Given the description of an element on the screen output the (x, y) to click on. 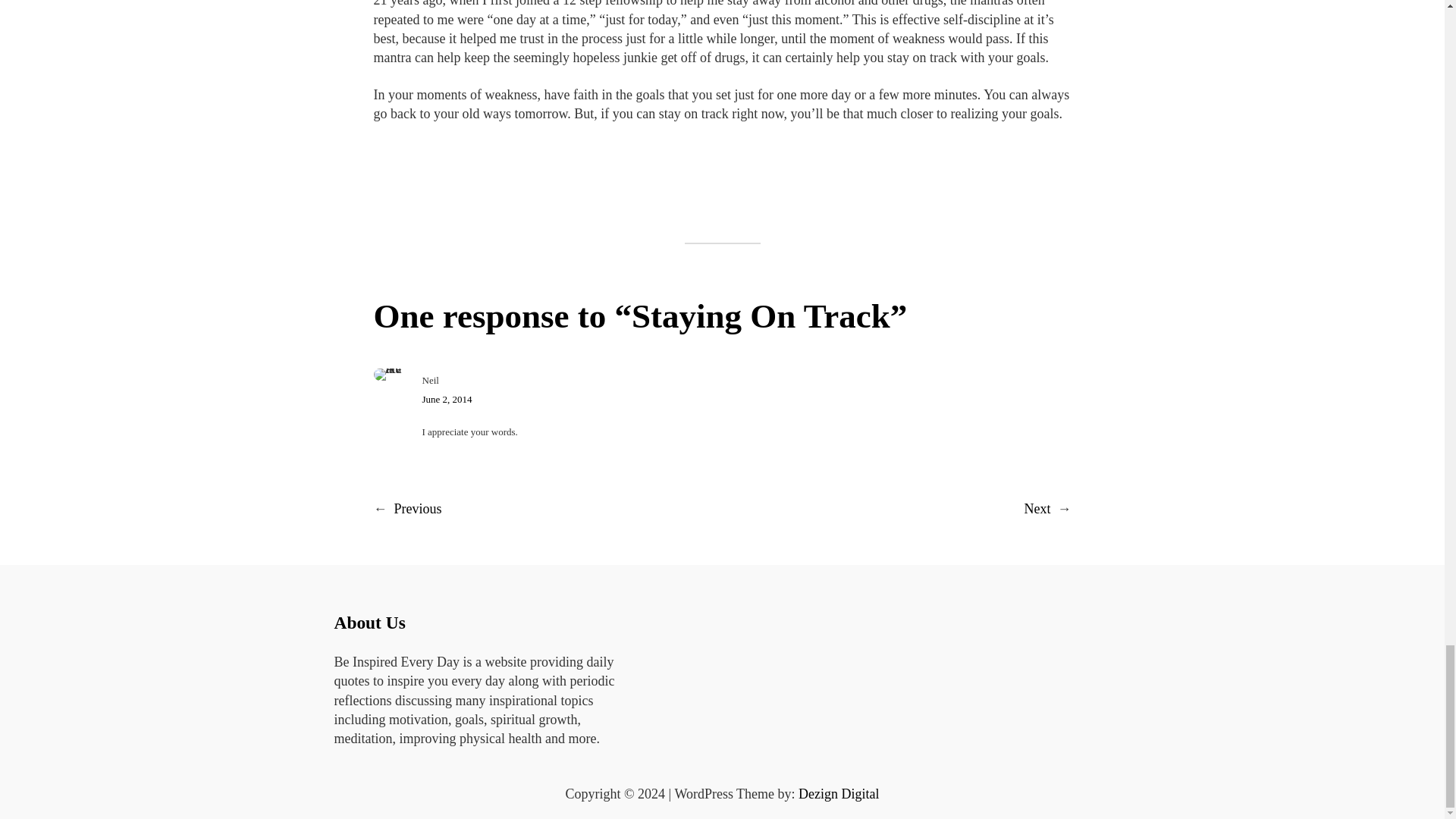
June 2, 2014 (446, 398)
Previous (418, 508)
Next (1036, 508)
Dezign Digital (838, 793)
